Given the description of an element on the screen output the (x, y) to click on. 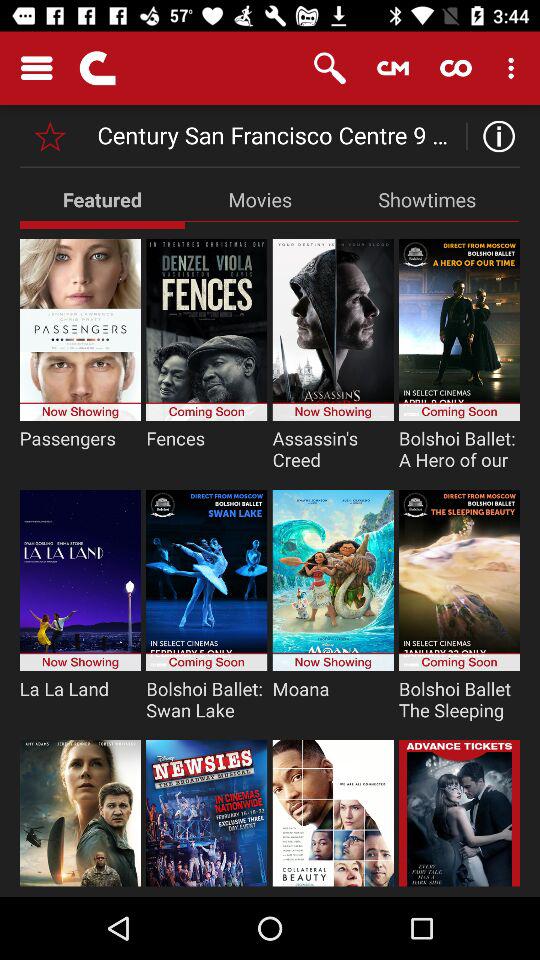
click century san francisco icon (278, 136)
